Given the description of an element on the screen output the (x, y) to click on. 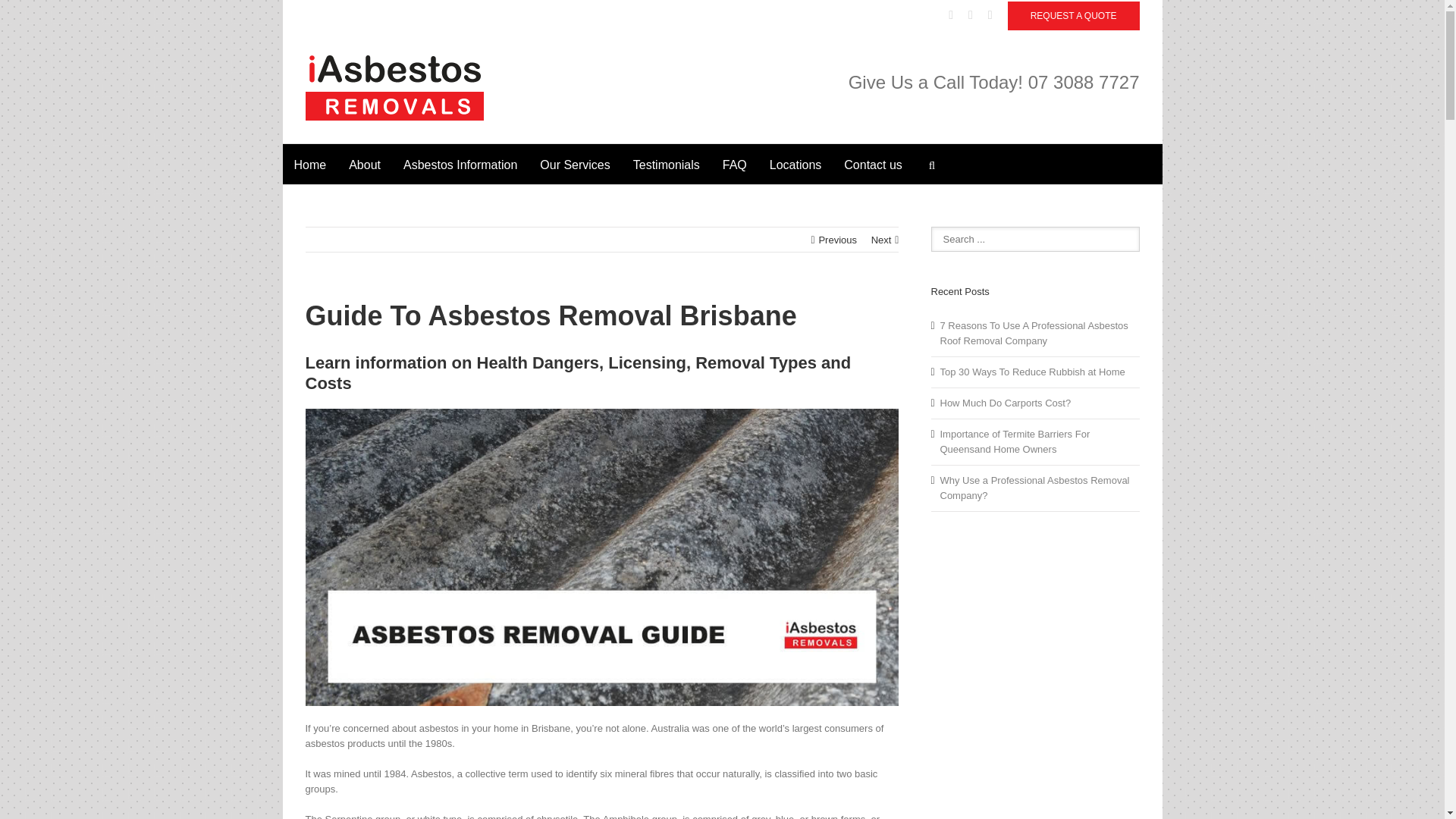
Testimonials (666, 164)
Contact us (872, 164)
Service Locations (795, 164)
Testimonials (666, 164)
Asbestos Services (574, 164)
Asbestos Information (459, 164)
Home (309, 164)
Our Services (574, 164)
FAQ (734, 164)
REQUEST A QUOTE (1073, 15)
Asbestos Information (459, 164)
About Us (364, 164)
Locations (795, 164)
About (364, 164)
Frequently Asked Questions (734, 164)
